Given the description of an element on the screen output the (x, y) to click on. 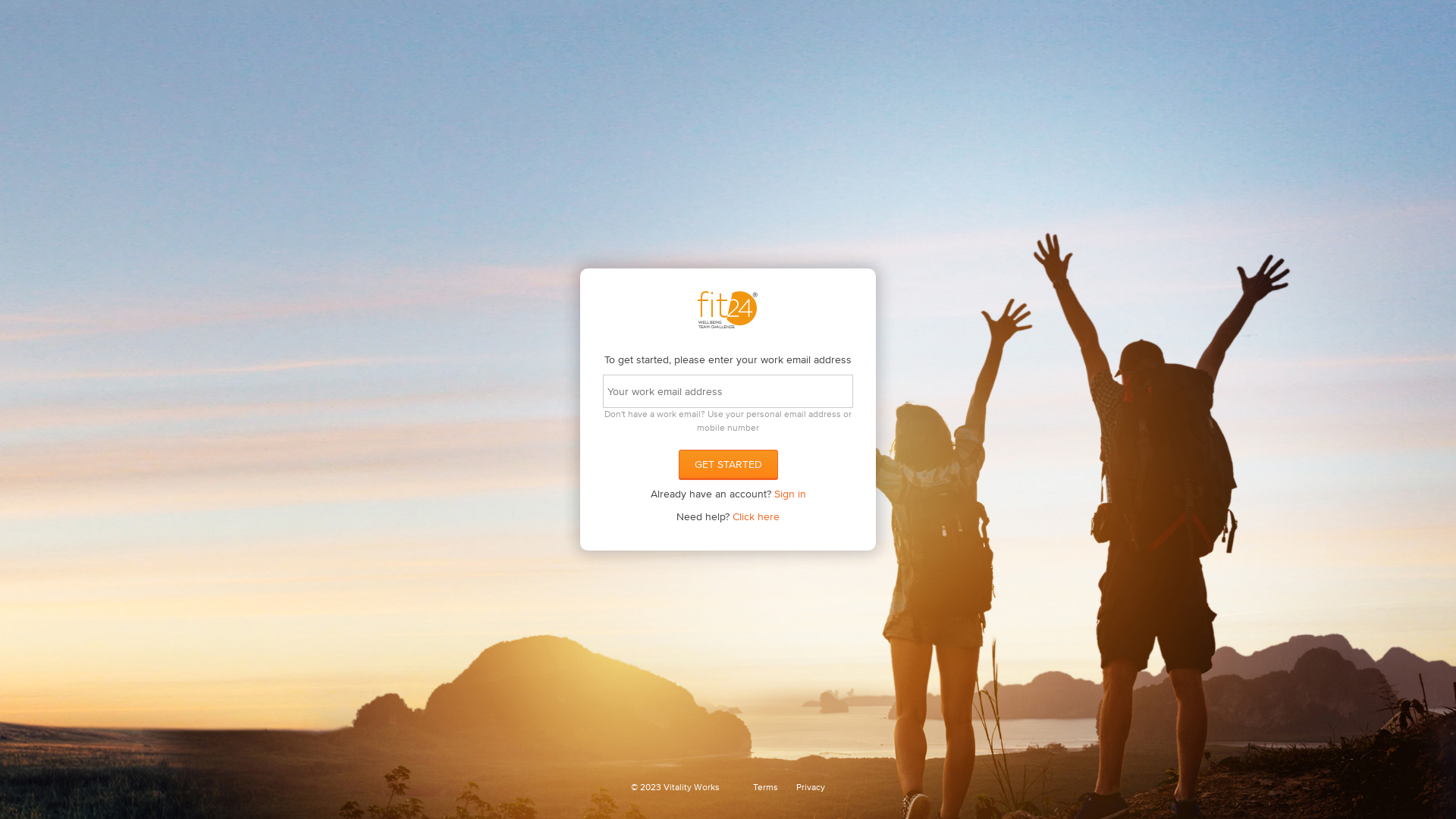
Sign in Element type: text (789, 493)
Terms Element type: text (765, 786)
Click here Element type: text (755, 516)
GET STARTED Element type: text (727, 463)
Privacy Element type: text (810, 786)
